Given the description of an element on the screen output the (x, y) to click on. 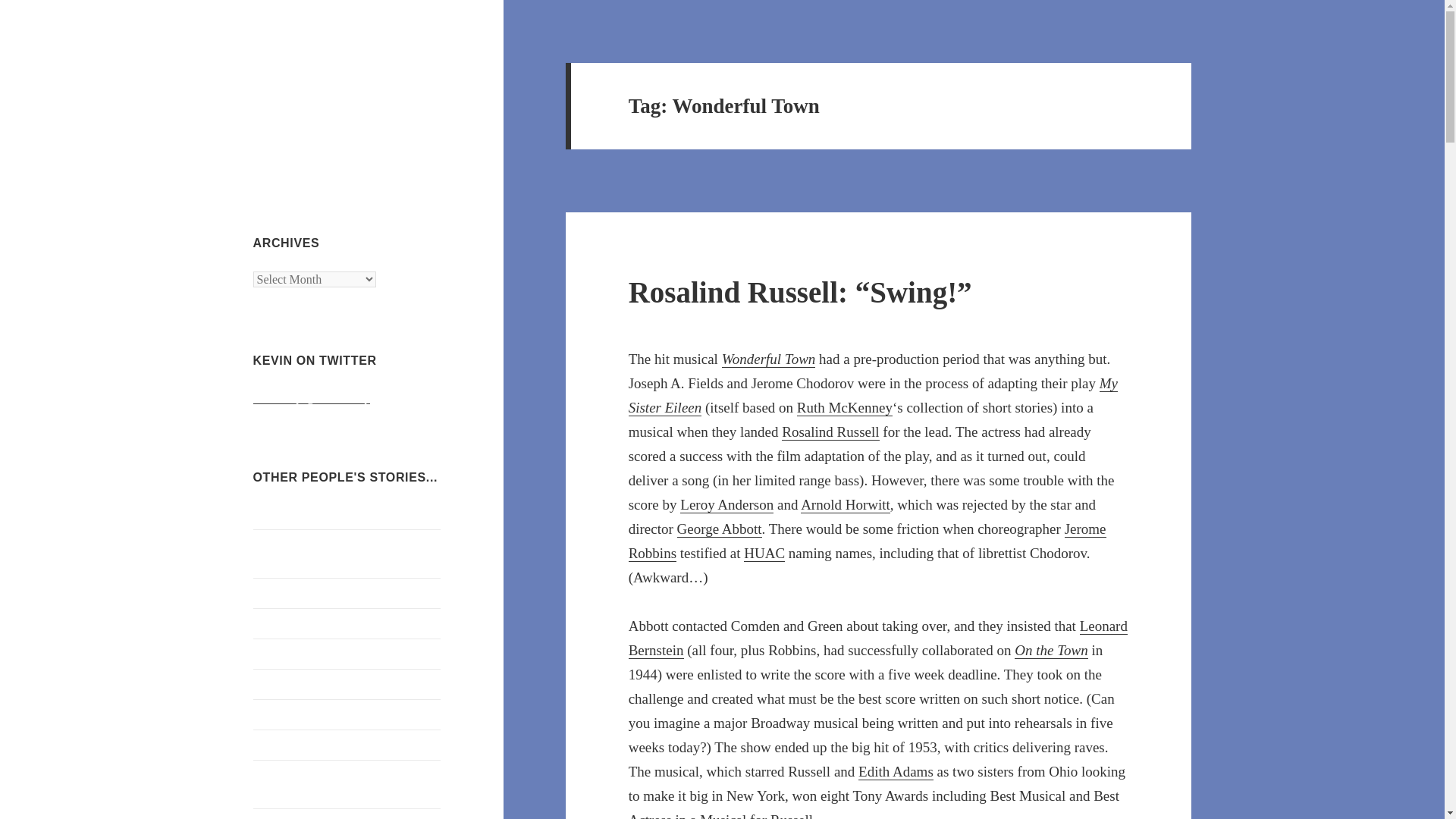
Creating Theater (293, 744)
Aisle Say (276, 592)
Theatre Aficionado at Large (345, 86)
Broadway Abridged (301, 622)
Donna Lynne Champlin's First Solo CD (340, 783)
Broadway and Me (297, 653)
Broadway Stars (291, 713)
Adaumbelle's Quest (301, 513)
Em's Talkery (285, 817)
Broadway Bullet (294, 683)
Adventures in the Endless Pursuit of Entertainment (341, 552)
